Given the description of an element on the screen output the (x, y) to click on. 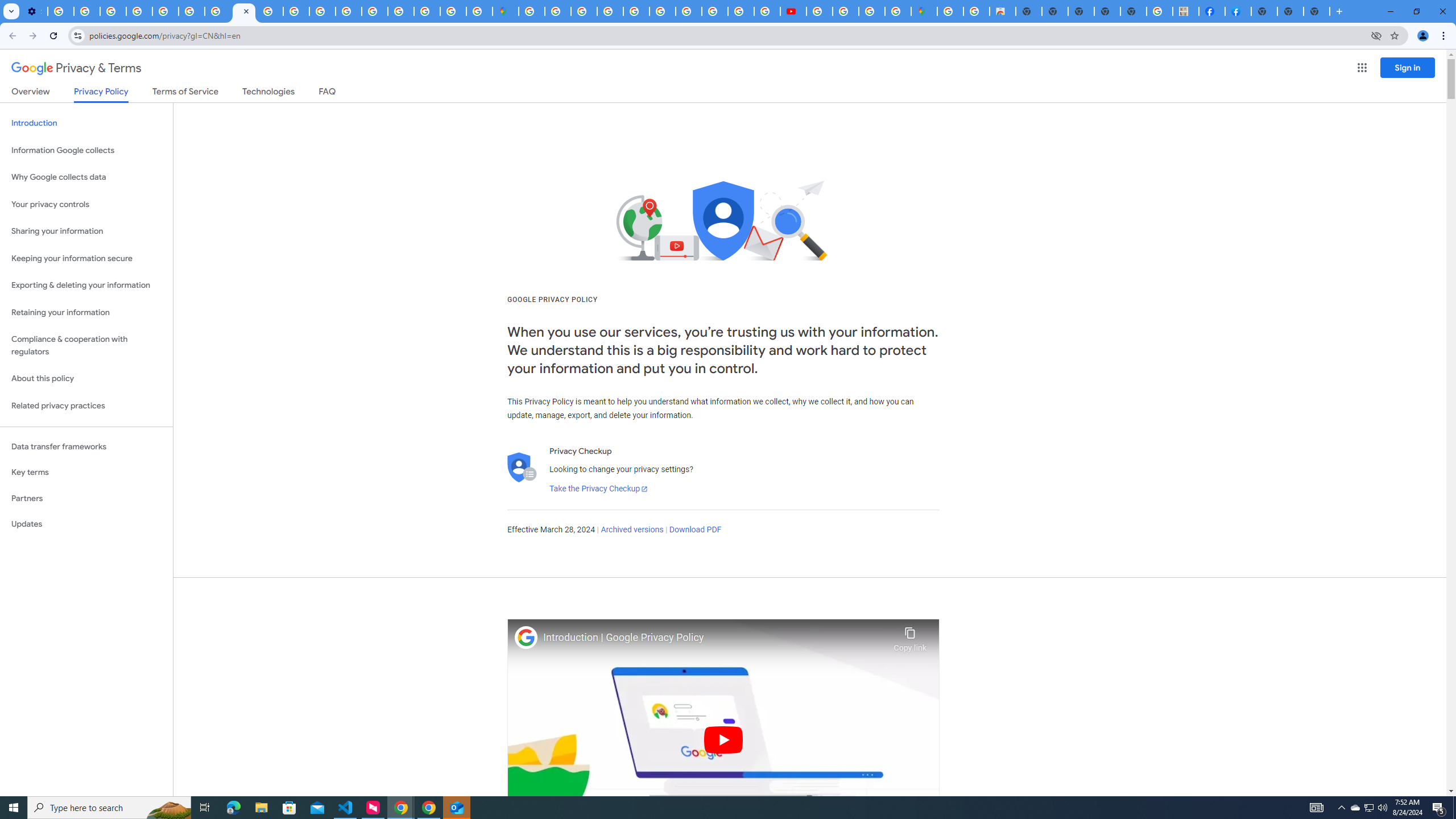
Exporting & deleting your information (86, 284)
Photo image of Google (526, 636)
Terms and Conditions (663, 11)
Settings - Customize profile (34, 11)
Miley Cyrus | Facebook (1211, 11)
New Tab (1316, 11)
MILEY CYRUS. (1185, 11)
